Given the description of an element on the screen output the (x, y) to click on. 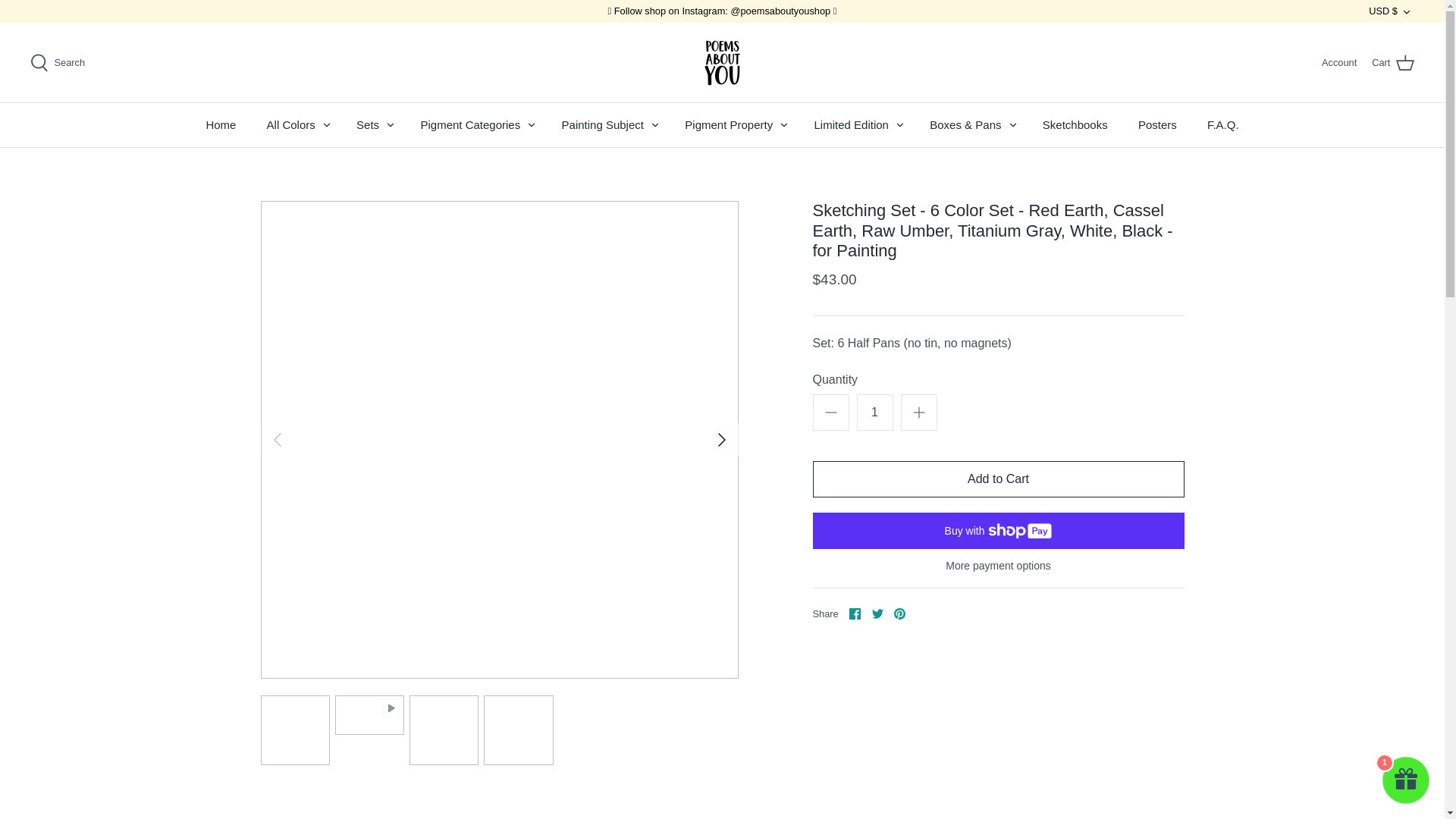
1 (875, 411)
Add to Cart (998, 479)
Toggle menu (531, 124)
Twitter (877, 613)
Toggle menu (655, 124)
1 (1405, 779)
Plus (919, 412)
Toggle menu (900, 124)
Toggle menu (390, 124)
Pinterest (899, 613)
